Given the description of an element on the screen output the (x, y) to click on. 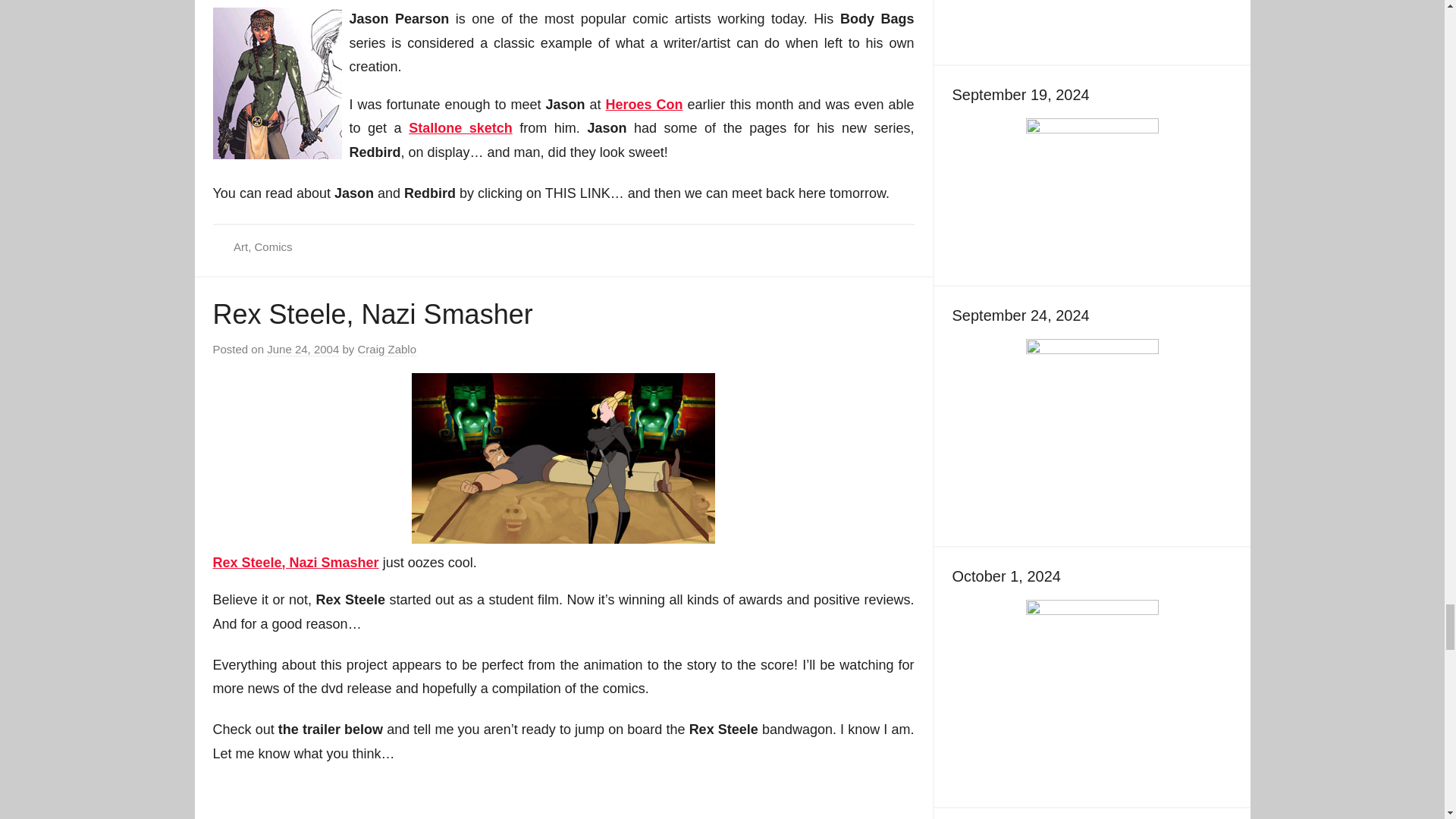
View all posts by Craig Zablo (387, 349)
